Given the description of an element on the screen output the (x, y) to click on. 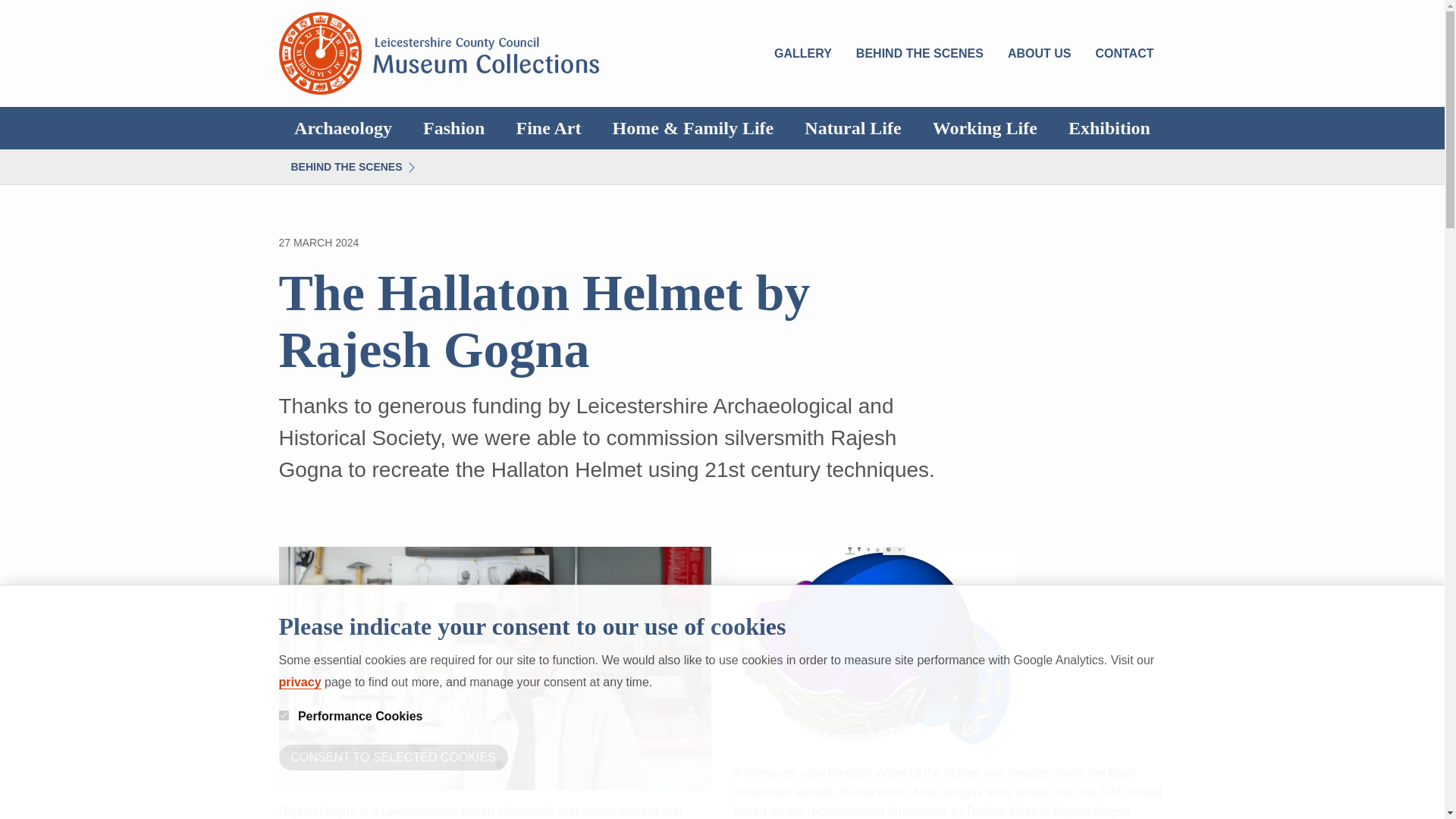
y (283, 715)
Fine Art (548, 127)
GALLERY (802, 52)
Consent to selected cookies (393, 757)
CONTACT (1124, 52)
Archaeology (343, 127)
Exhibition (1109, 127)
BEHIND THE SCENES (354, 166)
BEHIND THE SCENES (919, 52)
